Given the description of an element on the screen output the (x, y) to click on. 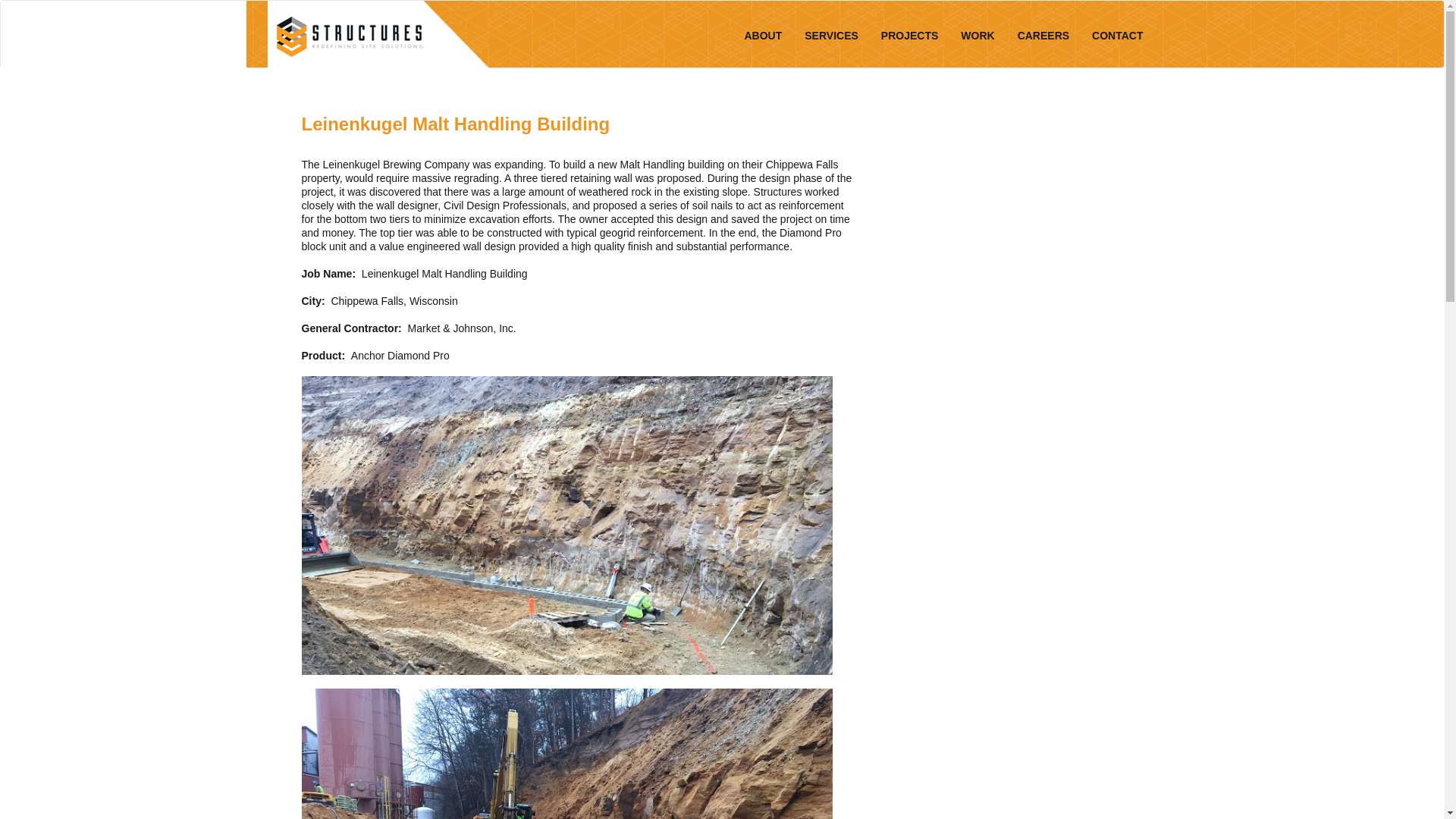
PROJECTS Element type: text (909, 35)
WORK Element type: text (977, 35)
SERVICES Element type: text (831, 35)
ABOUT Element type: text (762, 35)
CONTACT Element type: text (1117, 35)
CAREERS Element type: text (1043, 35)
